Given the description of an element on the screen output the (x, y) to click on. 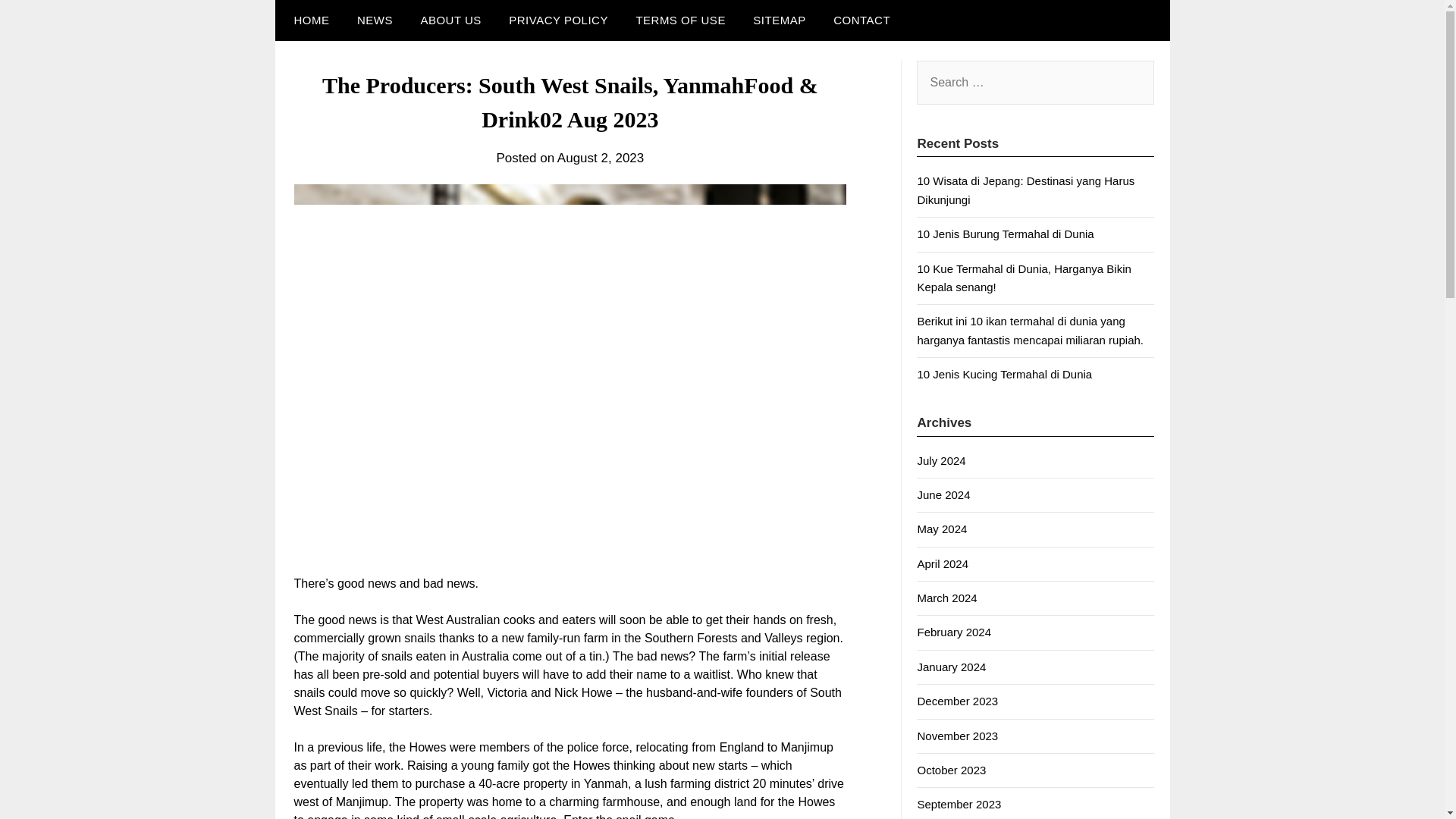
NEWS (374, 20)
CONTACT (861, 20)
October 2023 (951, 769)
10 Jenis Kucing Termahal di Dunia (1004, 373)
10 Wisata di Jepang: Destinasi yang Harus Dikunjungi (1025, 189)
March 2024 (946, 597)
February 2024 (954, 631)
November 2023 (957, 735)
10 Jenis Burung Termahal di Dunia (1005, 233)
May 2024 (941, 528)
January 2024 (951, 666)
TERMS OF USE (680, 20)
July 2024 (941, 460)
September 2023 (959, 803)
June 2024 (943, 494)
